Given the description of an element on the screen output the (x, y) to click on. 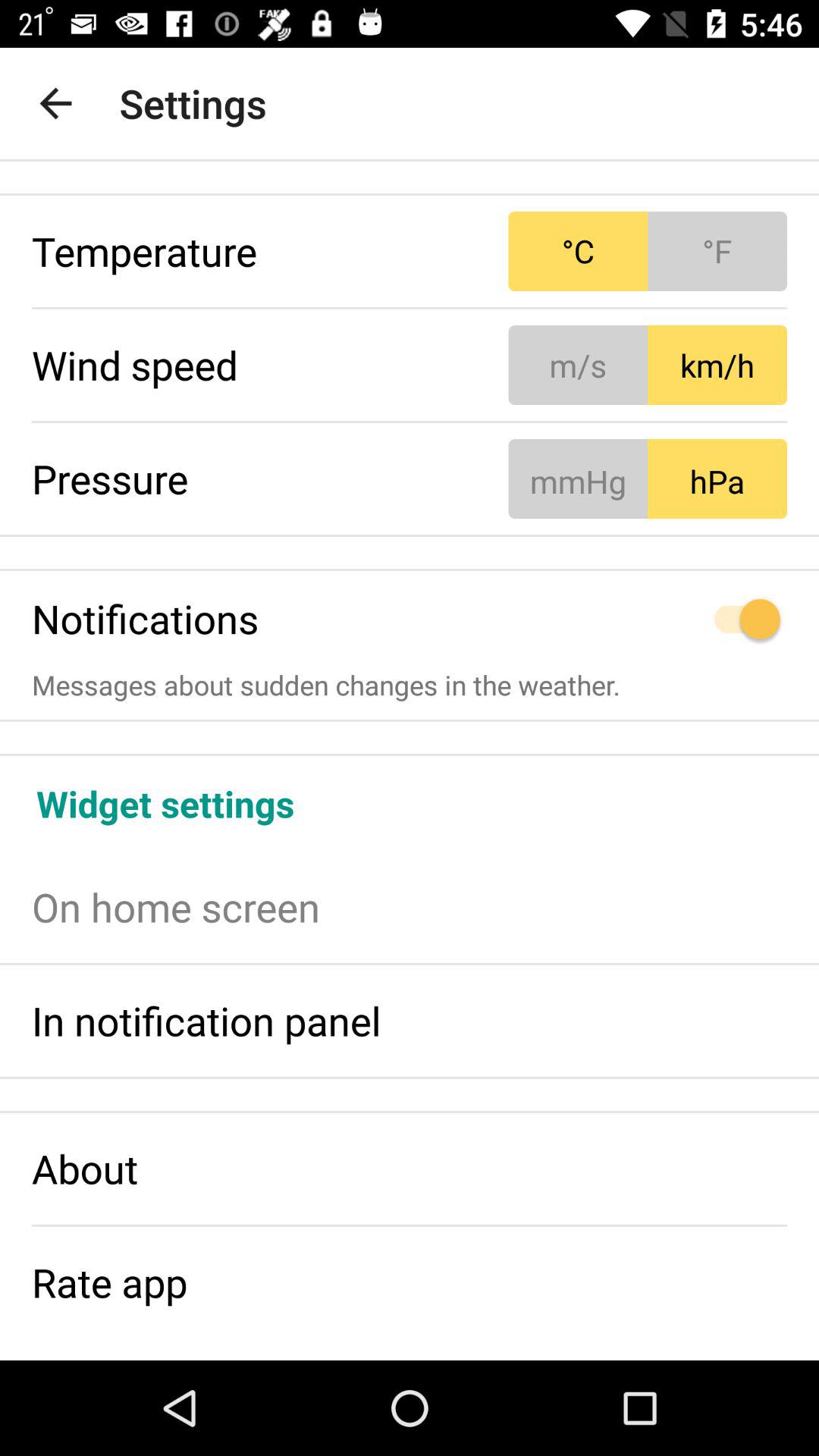
press the item to the right of the temperature (647, 251)
